Given the description of an element on the screen output the (x, y) to click on. 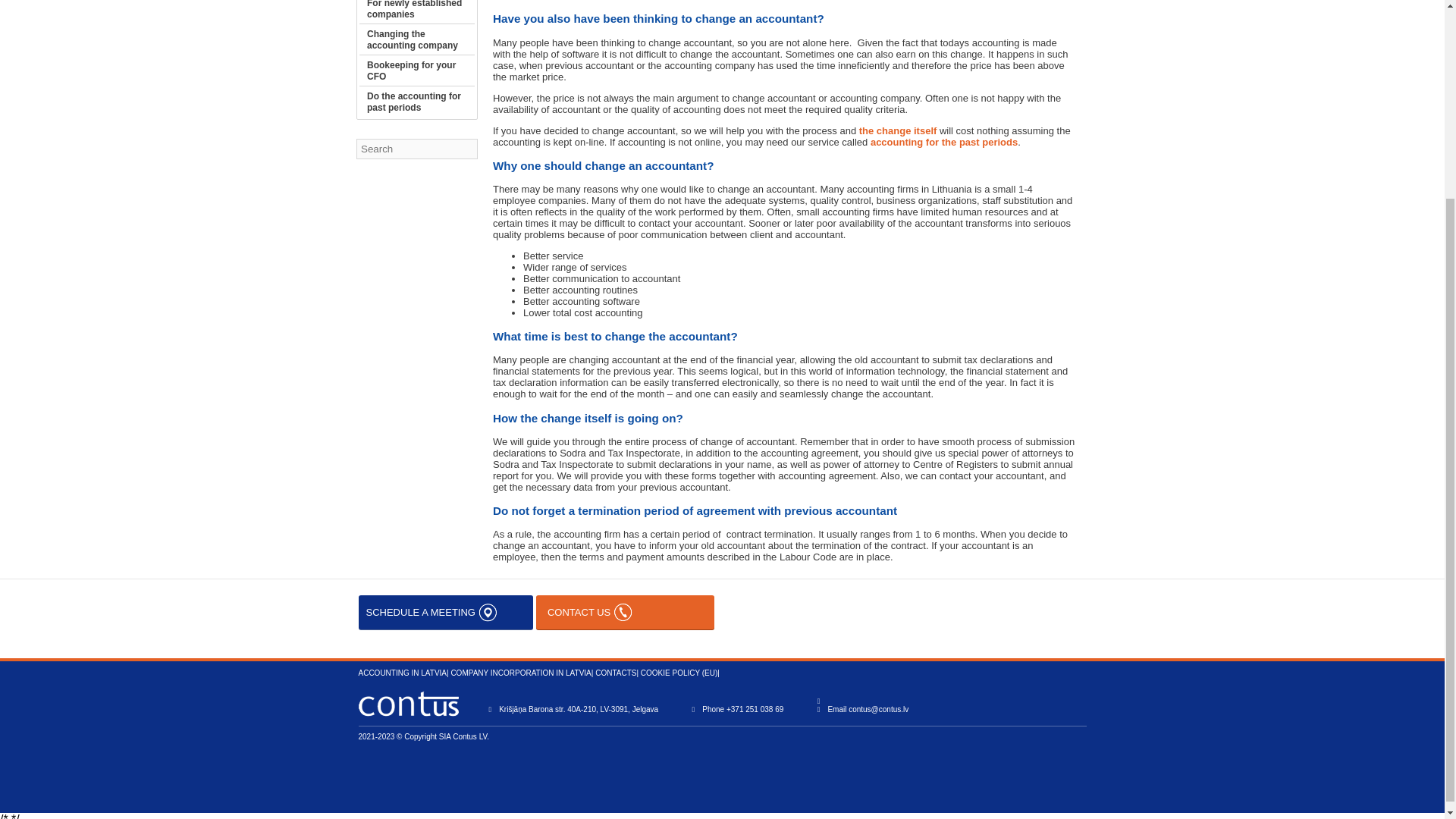
CONTACT US (624, 612)
Do the accounting for past periods (413, 101)
SCHEDULE A MEETING (445, 612)
accounting for the past periods (943, 142)
Changing the accounting company (412, 39)
Bookeeping for your CFO (410, 70)
For newly established companies (413, 9)
